Given the description of an element on the screen output the (x, y) to click on. 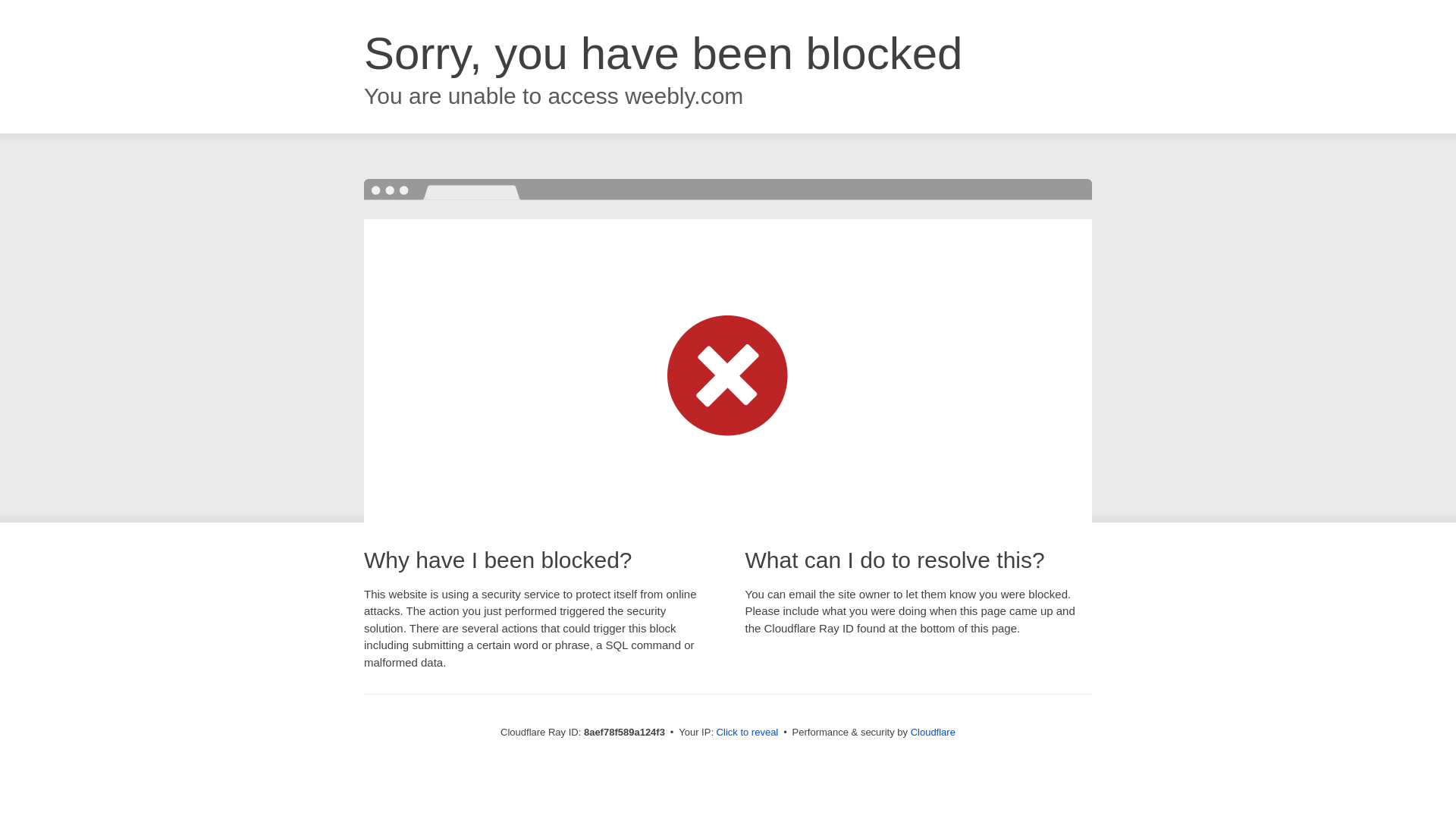
Cloudflare (933, 731)
Click to reveal (747, 732)
